Given the description of an element on the screen output the (x, y) to click on. 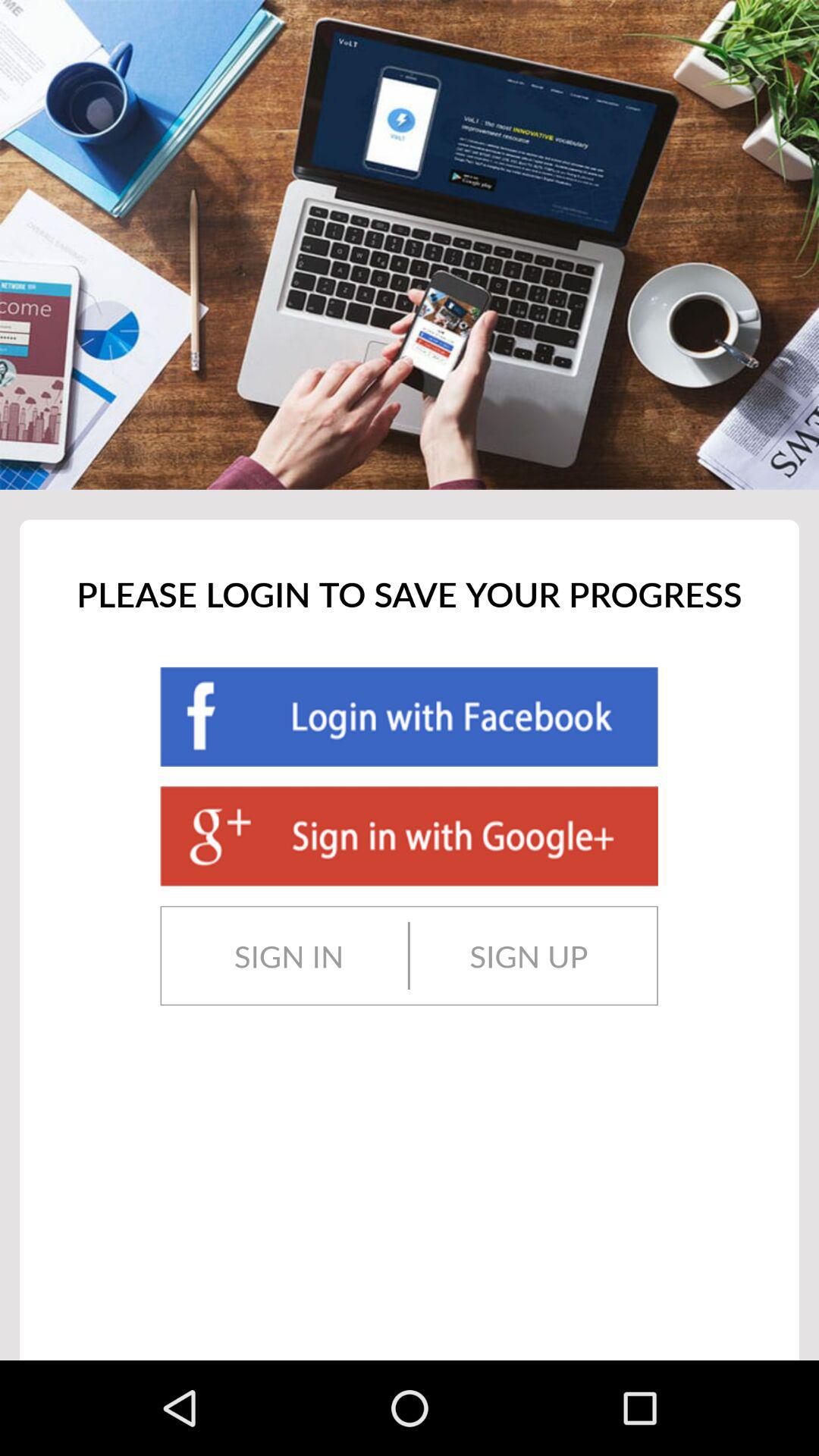
facebook login option (409, 716)
